Given the description of an element on the screen output the (x, y) to click on. 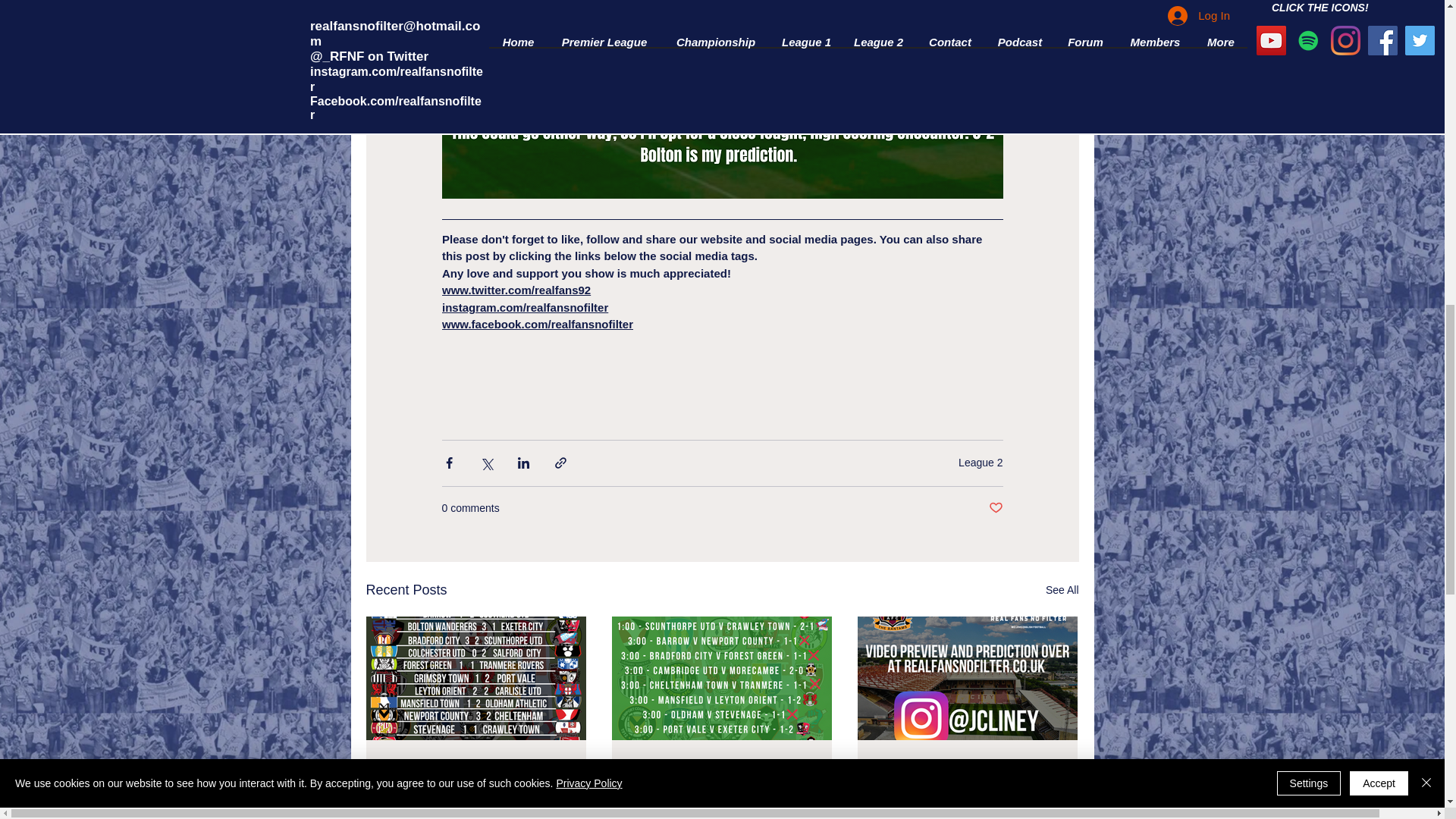
League 2 (980, 462)
EFL League Two: Fixtures and Predictions May 1st 2021 (475, 774)
Post not marked as liked (995, 508)
See All (1061, 590)
